Given the description of an element on the screen output the (x, y) to click on. 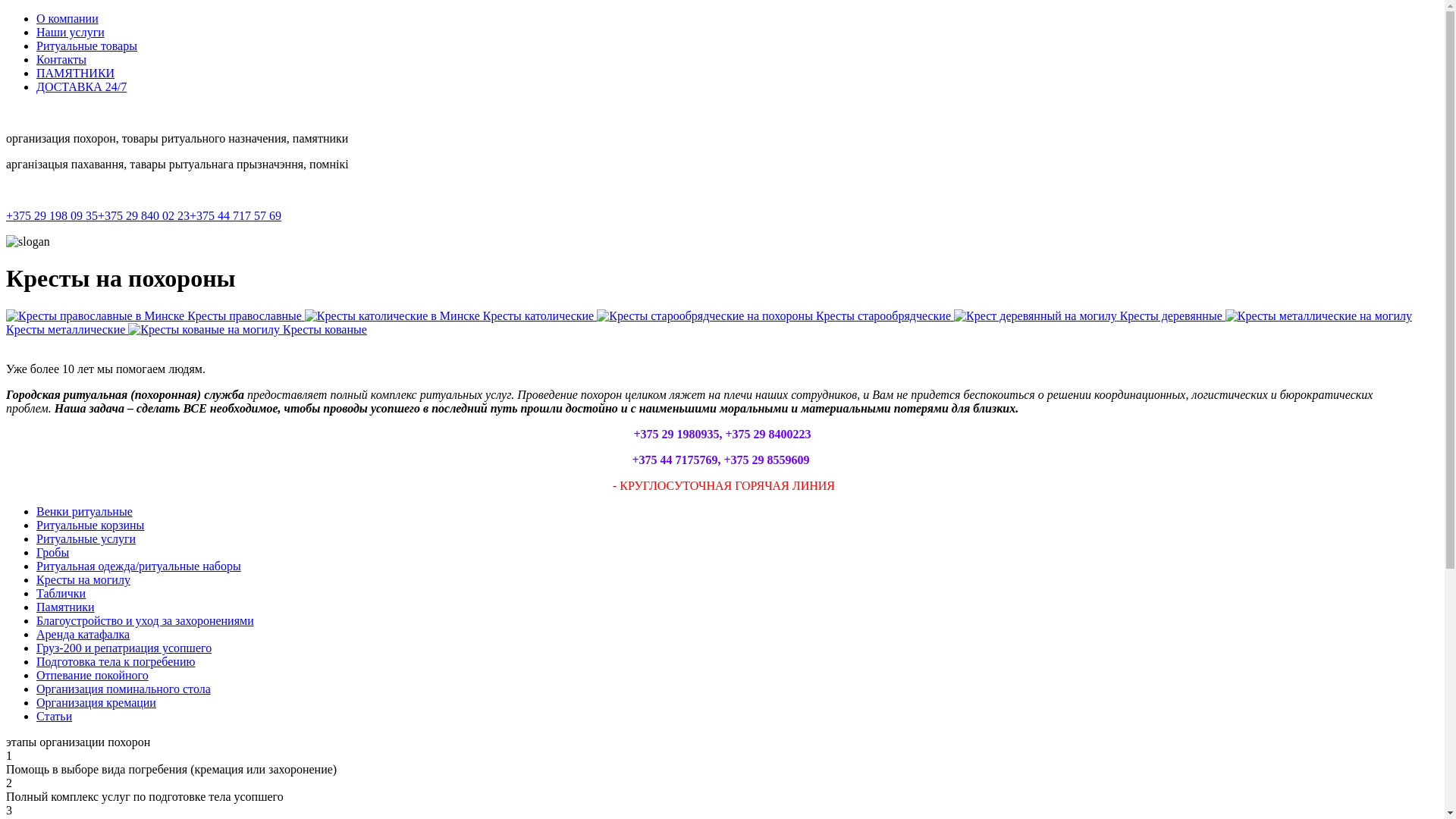
+375 29 198 09 35 Element type: text (51, 215)
+375 44 717 57 69 Element type: text (235, 215)
+375 29 840 02 23 Element type: text (143, 215)
